Given the description of an element on the screen output the (x, y) to click on. 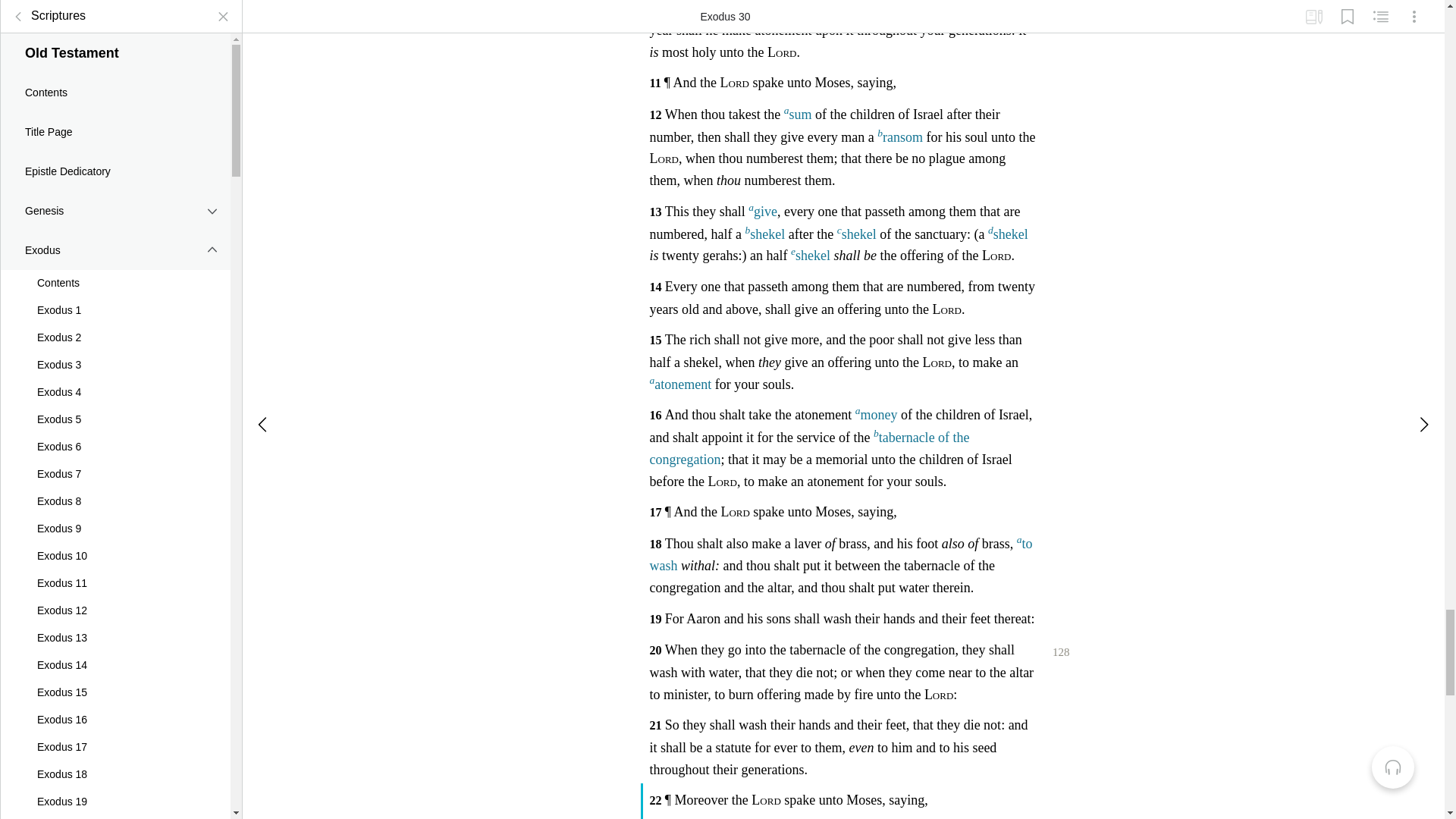
Exodus 30 (115, 271)
Exodus 27 (115, 189)
Exodus 23 (115, 81)
Exodus 21 (115, 26)
Exodus 20 (115, 6)
Exodus 22 (115, 53)
Exodus 31 (115, 298)
Exodus 29 (115, 244)
Exodus 26 (115, 162)
Exodus 28 (115, 216)
Exodus 25 (115, 135)
Exodus 24 (115, 108)
Exodus 32 (115, 326)
